Given the description of an element on the screen output the (x, y) to click on. 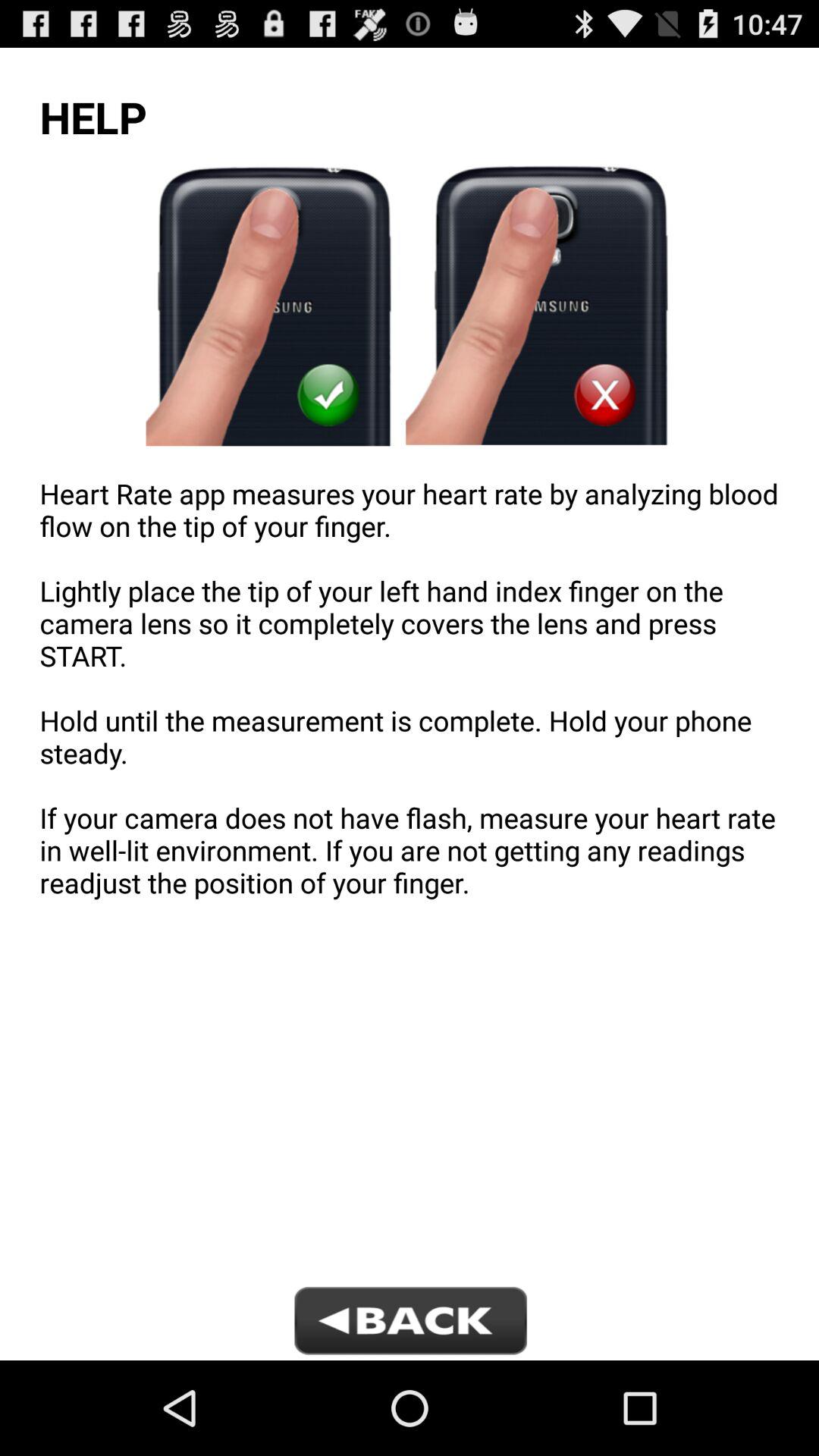
go back (409, 1323)
